Given the description of an element on the screen output the (x, y) to click on. 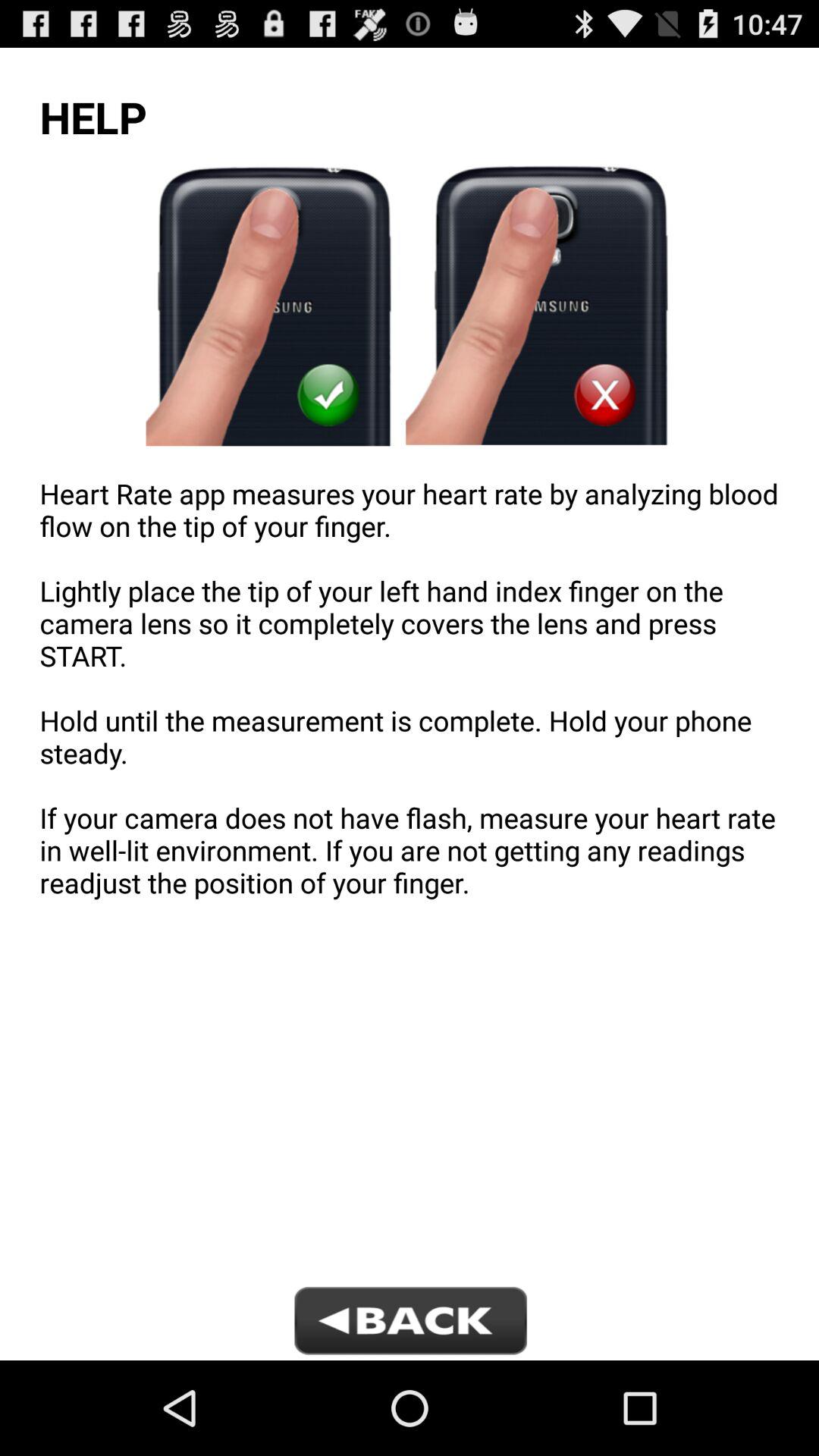
go back (409, 1323)
